Given the description of an element on the screen output the (x, y) to click on. 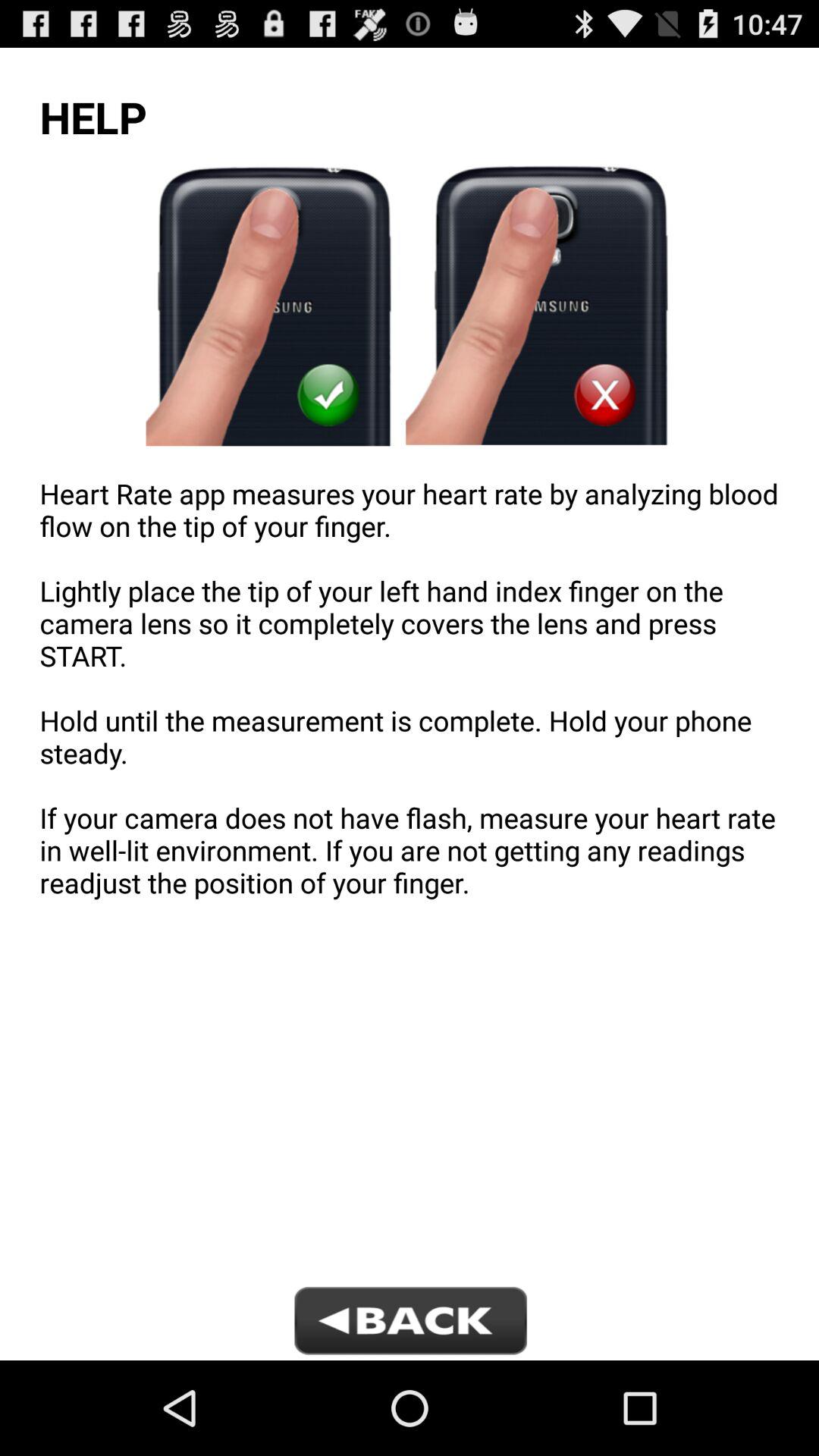
go back (409, 1323)
